Given the description of an element on the screen output the (x, y) to click on. 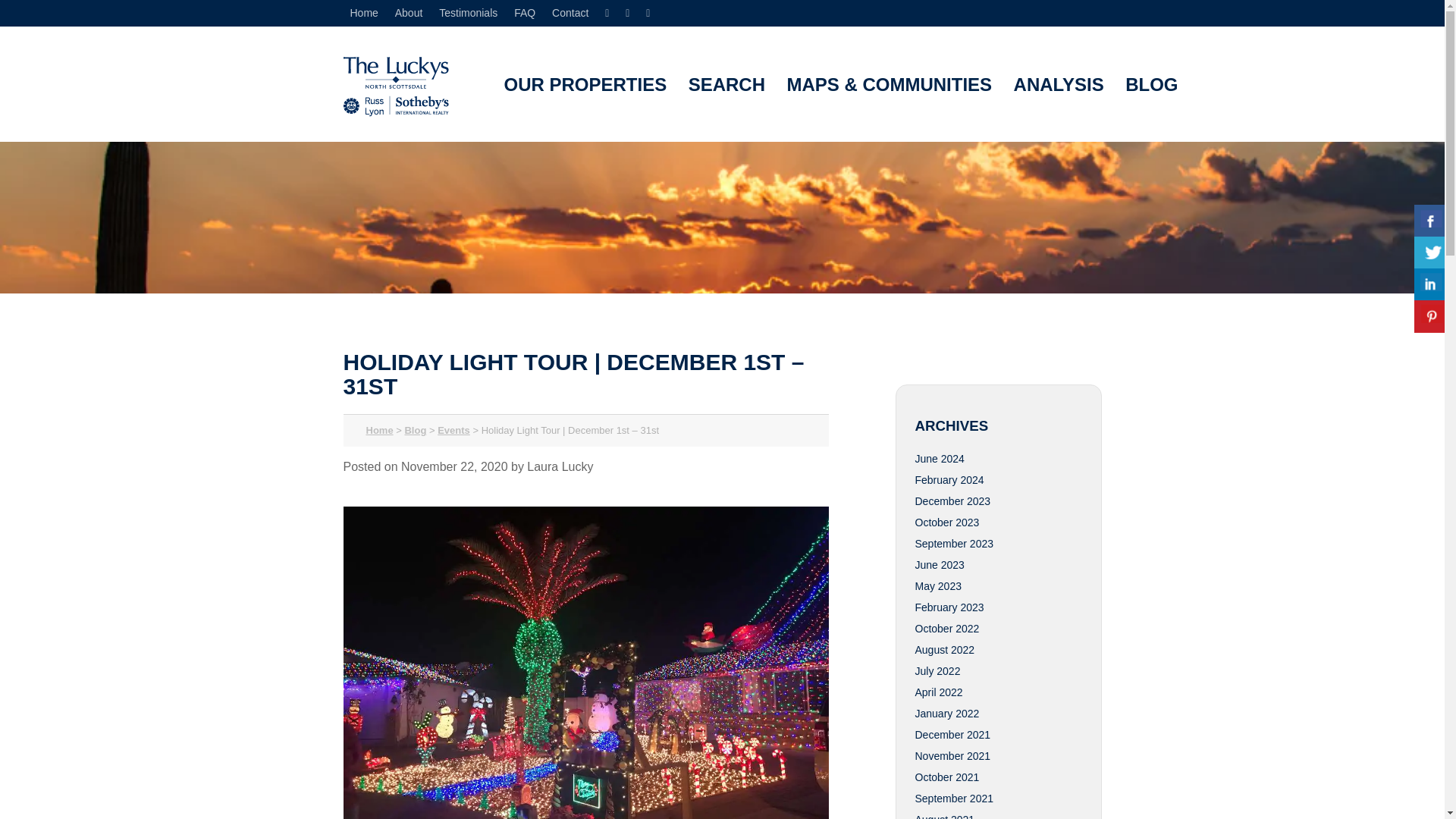
Go to The Luckys North Scottsdale. (379, 430)
Go to Blog. (415, 430)
Go to the Events category archives. (454, 430)
